Given the description of an element on the screen output the (x, y) to click on. 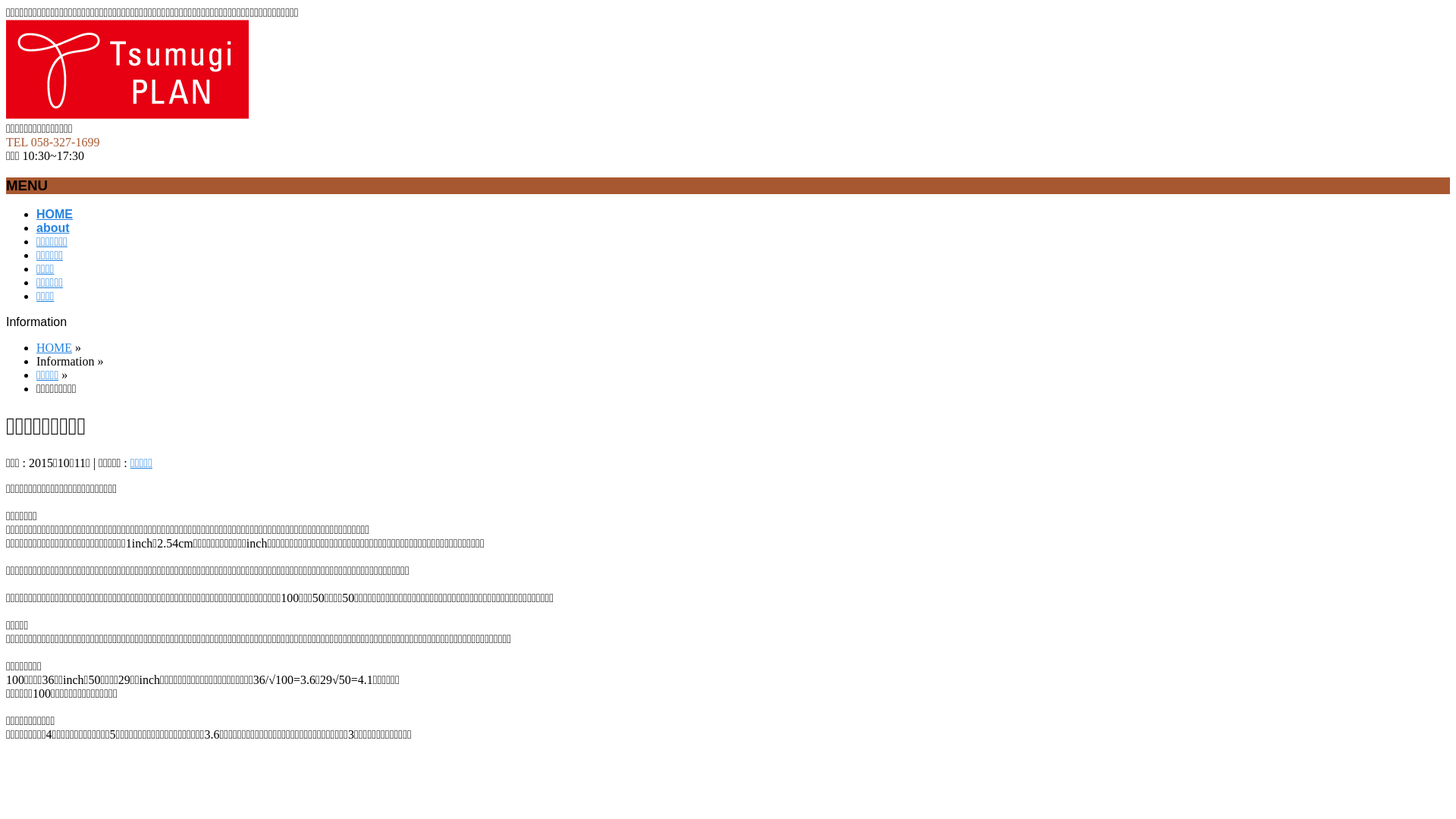
HOME Element type: text (54, 213)
HOME Element type: text (54, 347)
about Element type: text (52, 227)
